Given the description of an element on the screen output the (x, y) to click on. 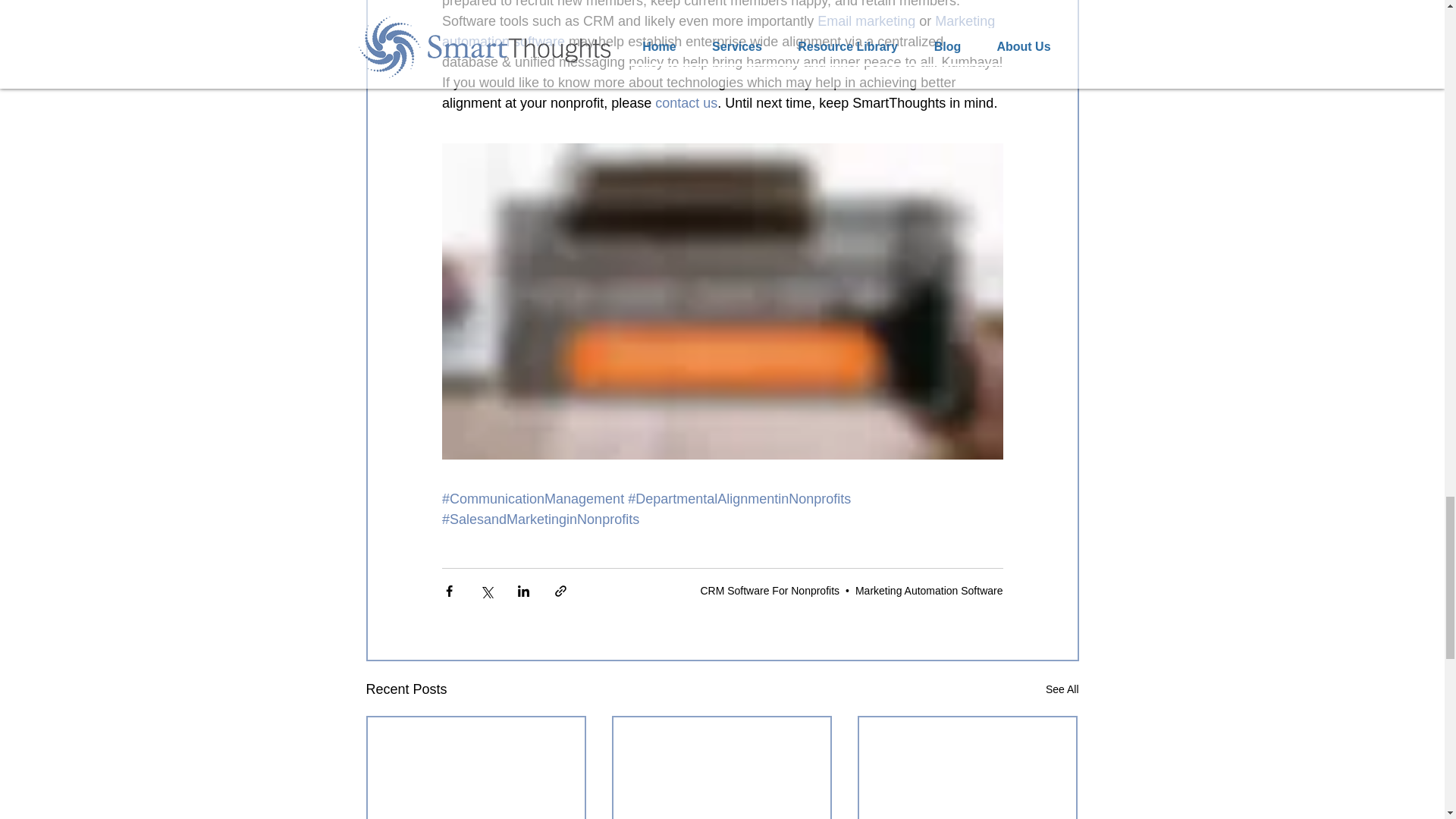
CRM Software For Nonprofits (770, 590)
Marketing Automation Software (929, 590)
Marketing automation software (719, 31)
Email marketing (865, 20)
contact us (686, 102)
See All (1061, 689)
